Given the description of an element on the screen output the (x, y) to click on. 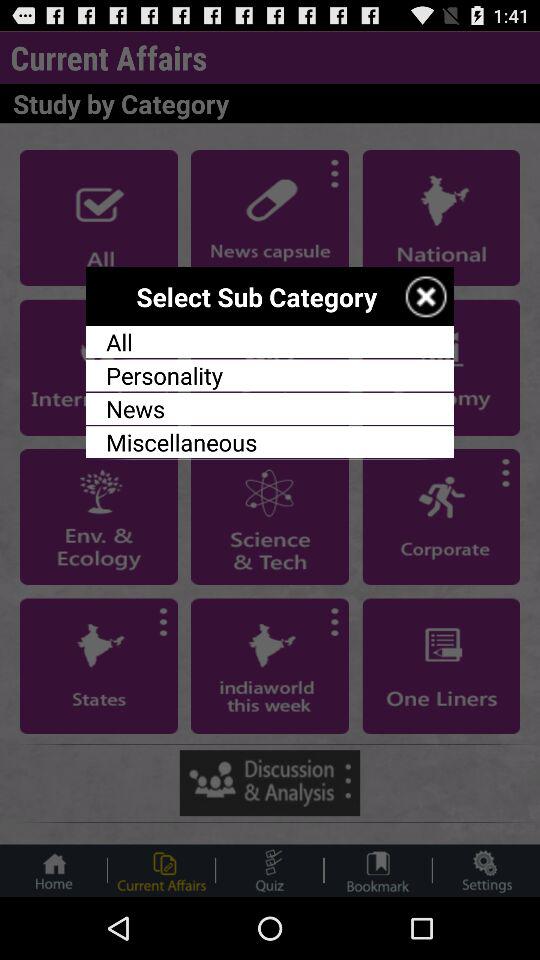
swipe to the all app (269, 342)
